Given the description of an element on the screen output the (x, y) to click on. 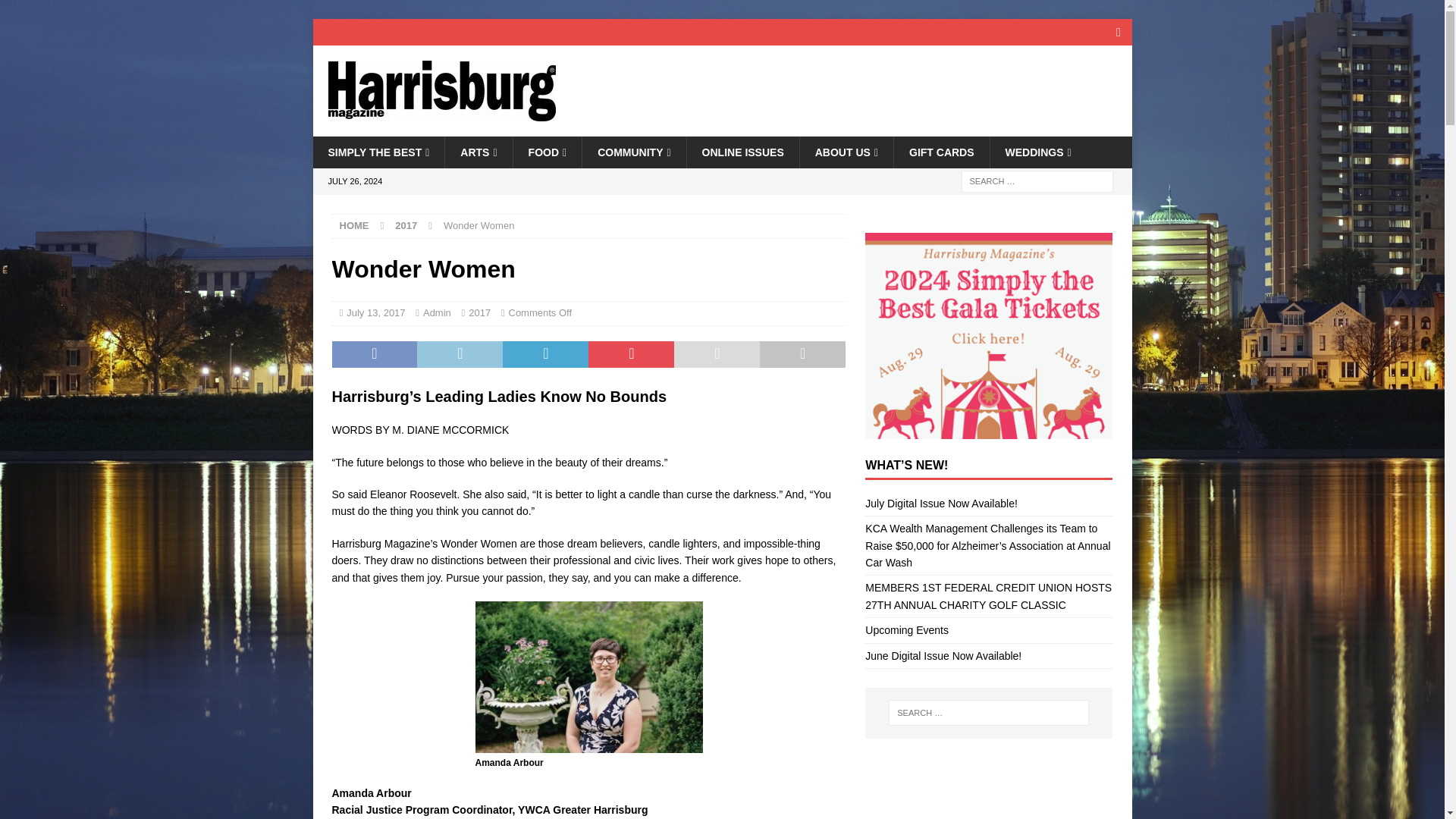
SIMPLY THE BEST (378, 152)
